Given the description of an element on the screen output the (x, y) to click on. 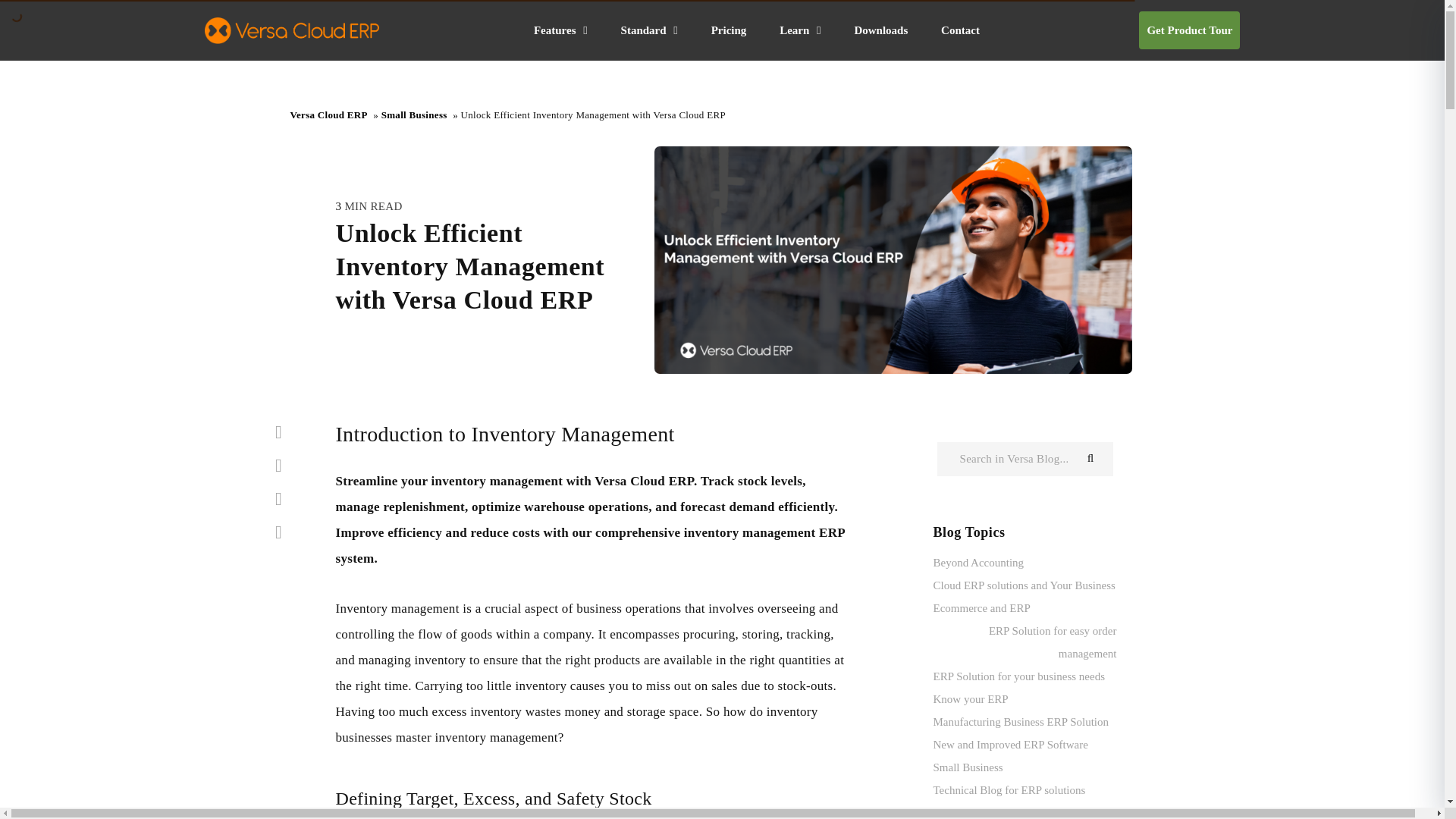
Features (560, 30)
Standard Edition (648, 30)
Features (560, 30)
Versa Cloud ERP (291, 30)
Learn (799, 30)
Standard (648, 30)
Downloads (880, 30)
Get Product Tour (1189, 30)
